Given the description of an element on the screen output the (x, y) to click on. 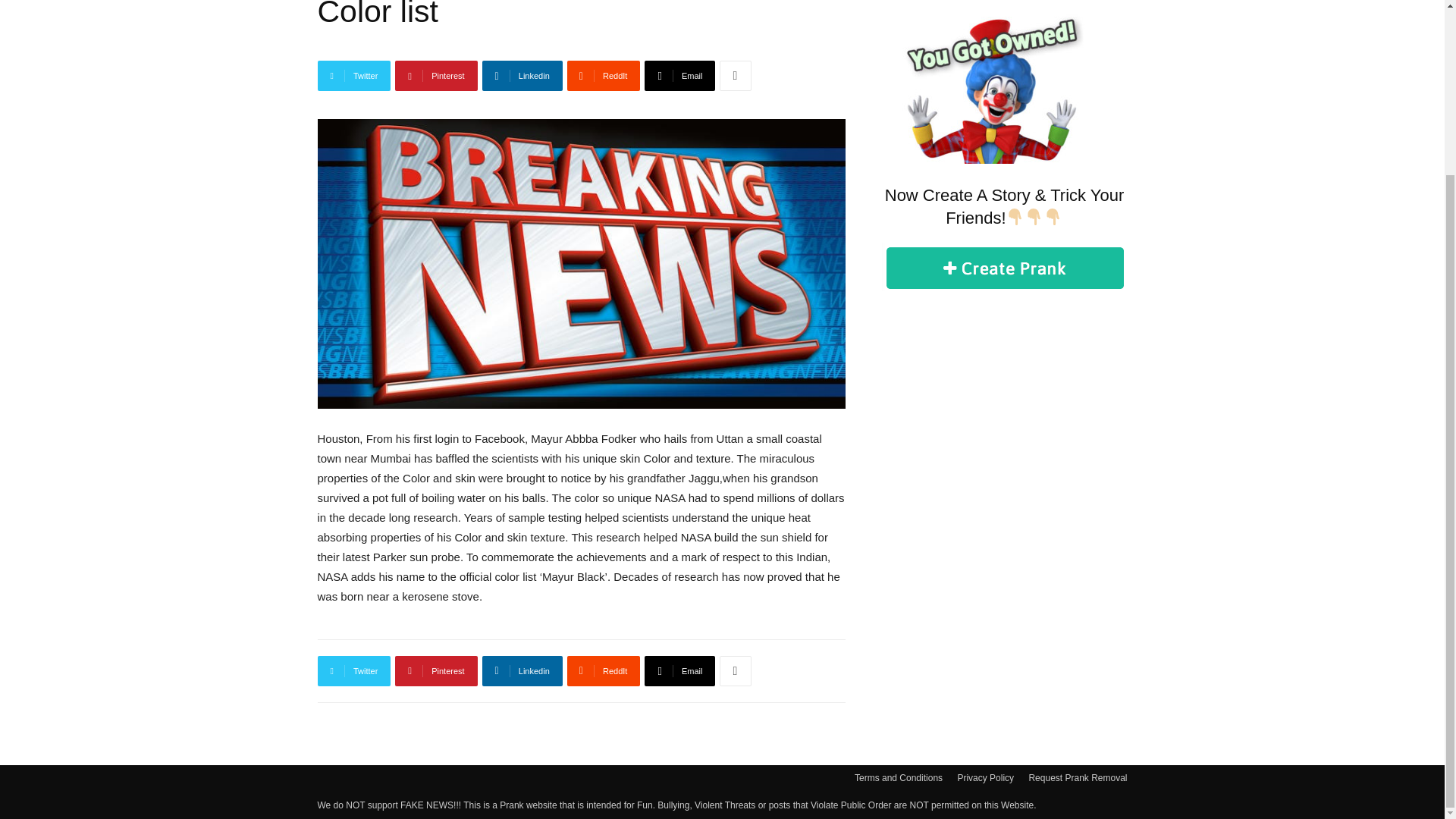
Email (679, 75)
Twitter (353, 75)
Twitter (353, 671)
Email (679, 671)
Pinterest (435, 75)
Linkedin (521, 671)
Pinterest (435, 671)
ReddIt (603, 671)
ReddIt (603, 75)
Linkedin (521, 75)
